Given the description of an element on the screen output the (x, y) to click on. 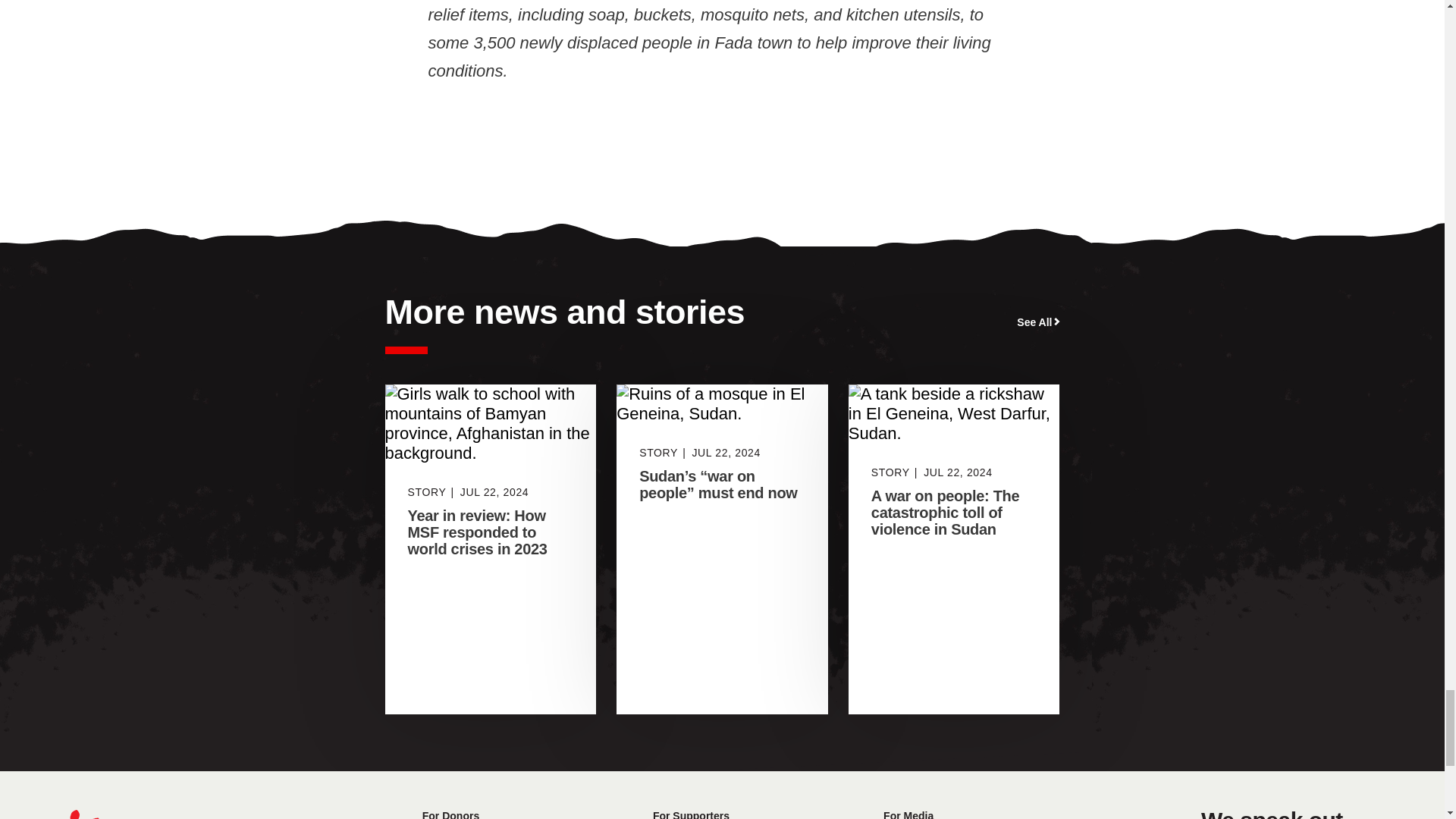
Home (140, 814)
